Given the description of an element on the screen output the (x, y) to click on. 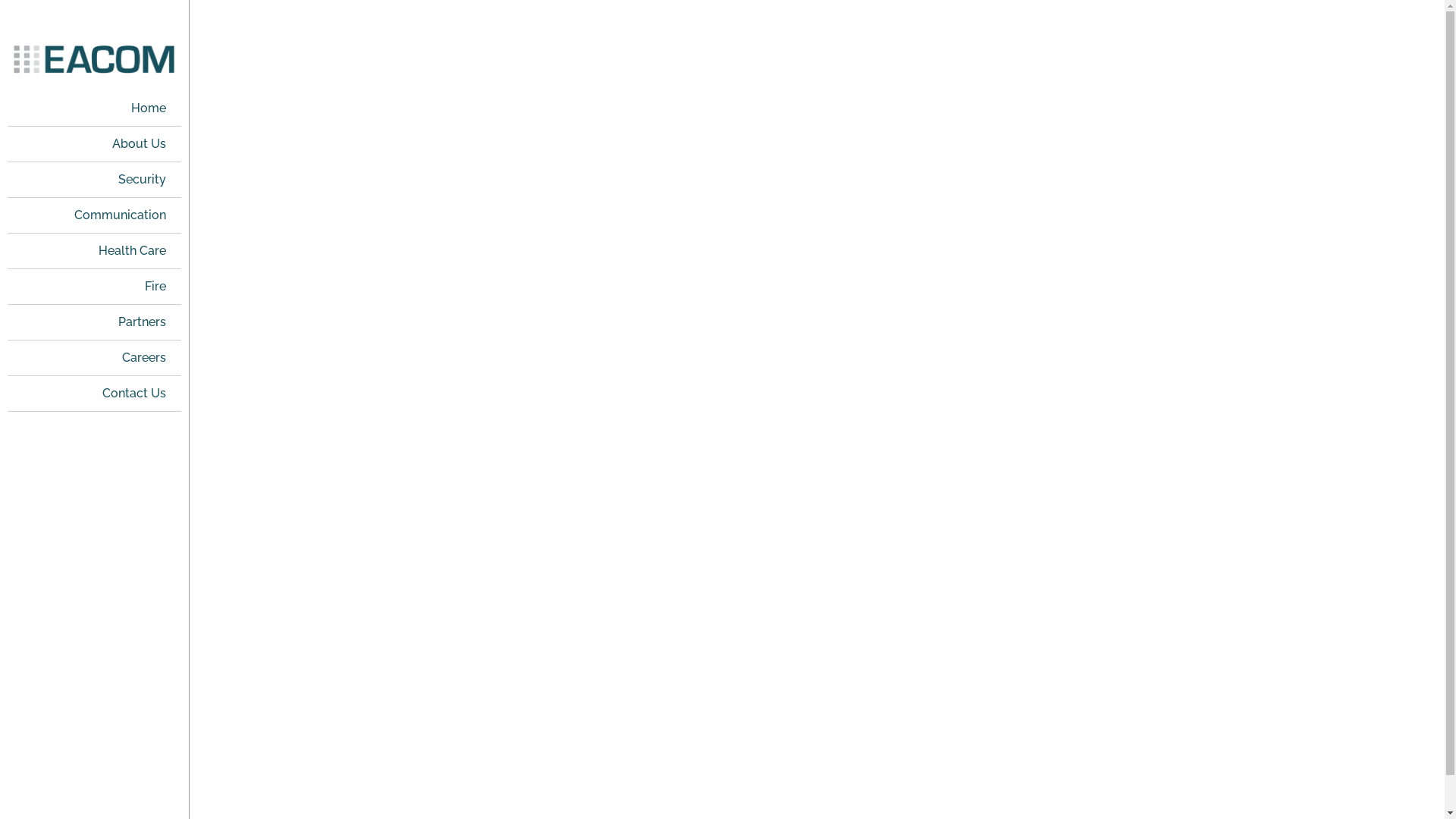
About Us Element type: text (94, 143)
Home Element type: text (94, 108)
Communication Element type: text (94, 214)
Security Element type: text (94, 179)
Fire Element type: text (94, 286)
Health Care Element type: text (94, 250)
Contact Us Element type: text (94, 393)
Careers Element type: text (94, 357)
Partners Element type: text (94, 321)
